Given the description of an element on the screen output the (x, y) to click on. 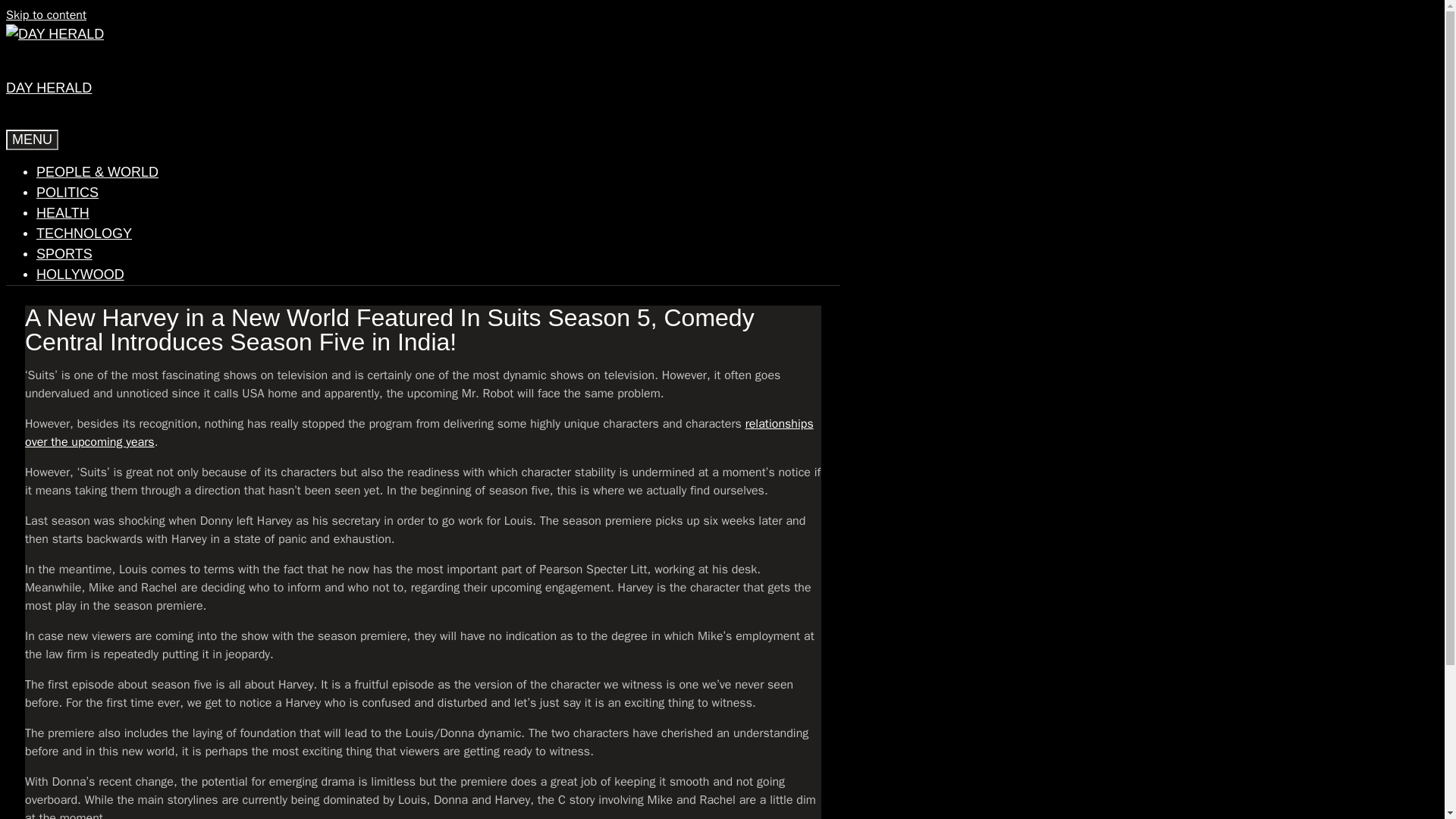
TECHNOLOGY (84, 233)
POLITICS (67, 192)
Day Herald (54, 34)
HEALTH (62, 212)
SPORTS (64, 253)
DAY HERALD (48, 87)
MENU (31, 139)
Day Herald (54, 33)
Skip to content (45, 14)
Skip to content (45, 14)
relationships over the upcoming years (418, 432)
HOLLYWOOD (79, 273)
